Given the description of an element on the screen output the (x, y) to click on. 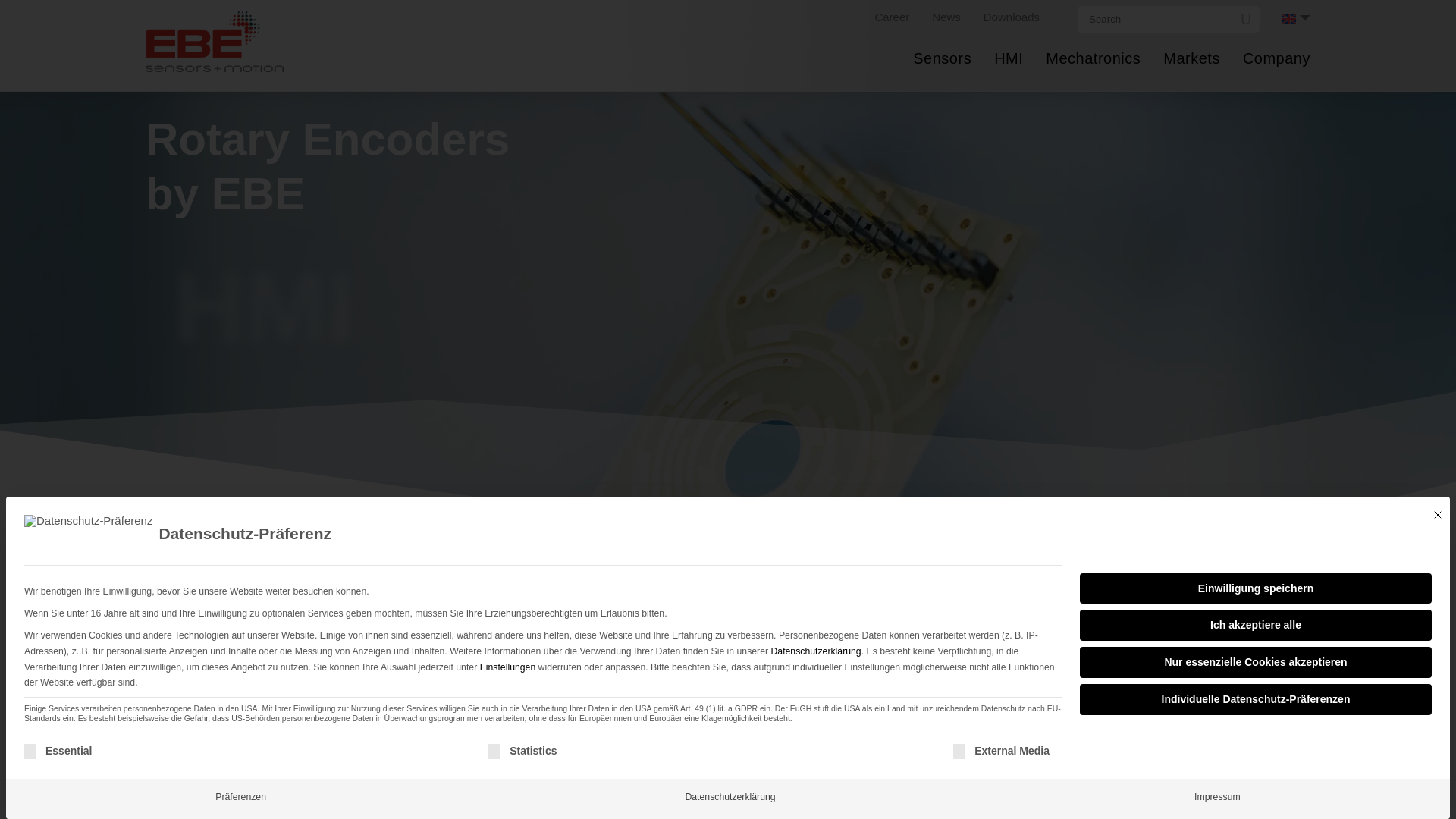
News (945, 16)
Mechatronics (1092, 80)
Company (1276, 80)
U (1245, 18)
Career (891, 16)
Sensors (941, 80)
Downloads (1011, 16)
Markets (1191, 80)
